Given the description of an element on the screen output the (x, y) to click on. 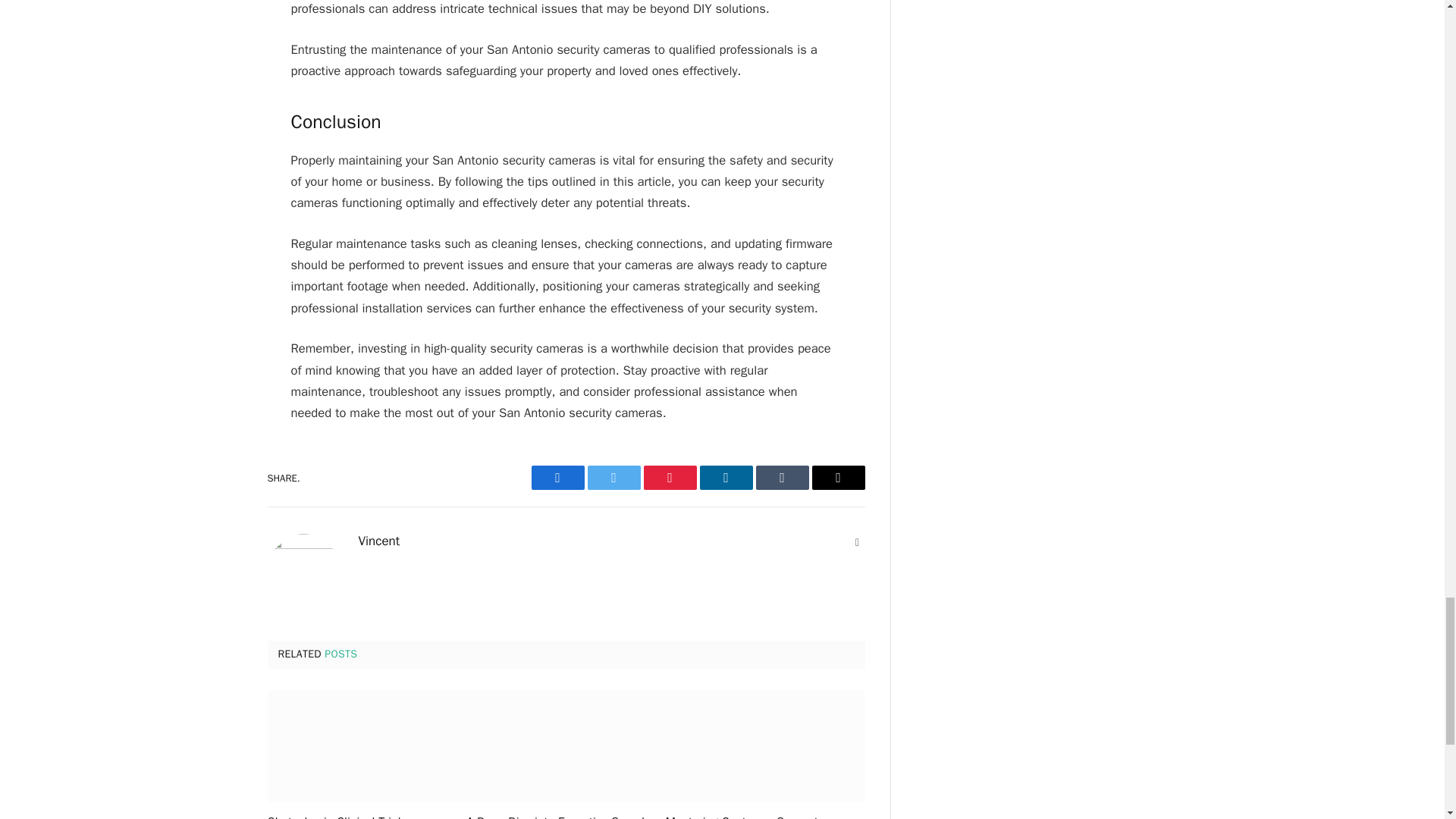
Facebook (557, 477)
Twitter (613, 477)
